Given the description of an element on the screen output the (x, y) to click on. 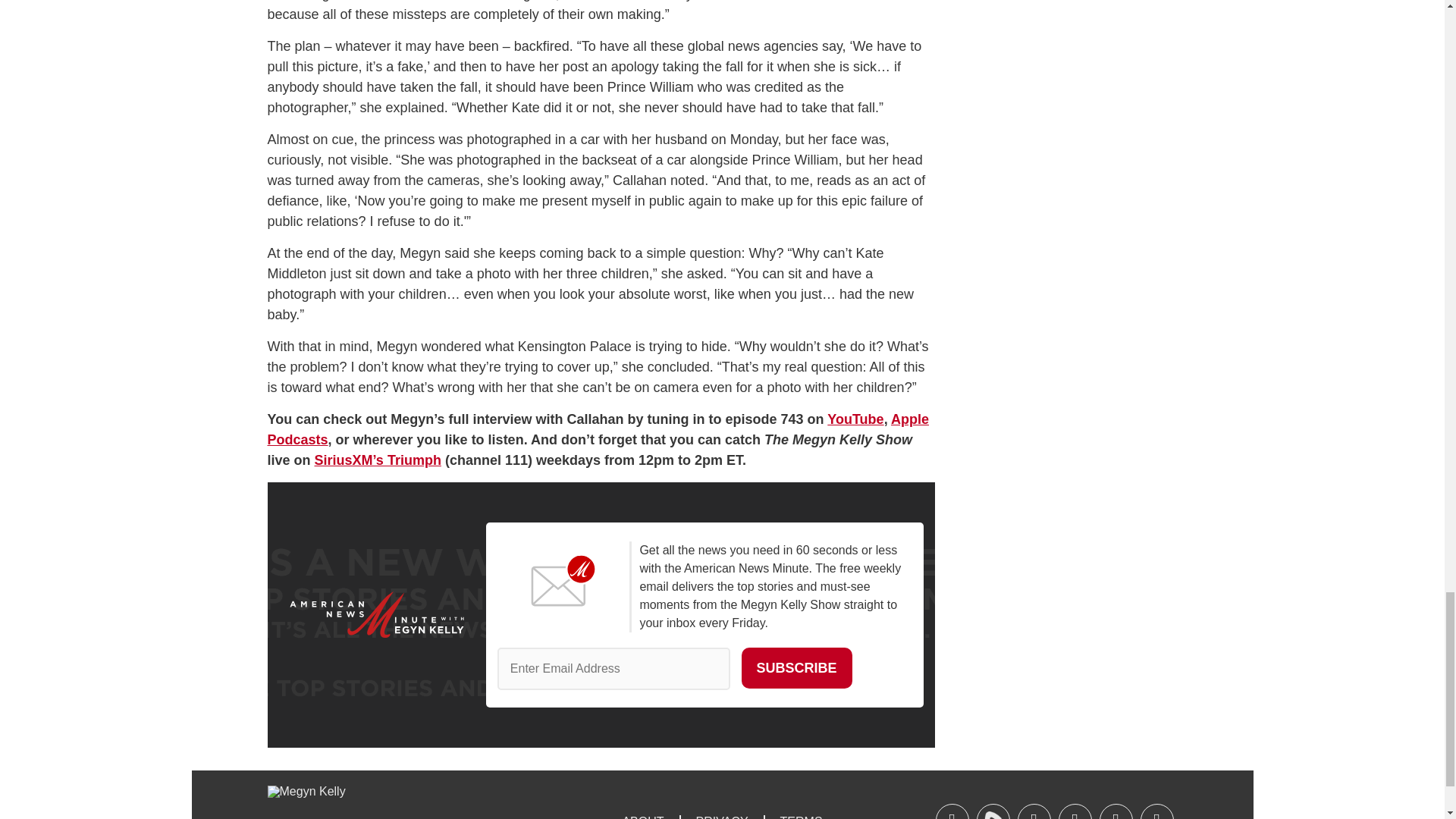
Subscribe (796, 667)
Terms of Service (800, 816)
Privacy Policy (720, 816)
